Given the description of an element on the screen output the (x, y) to click on. 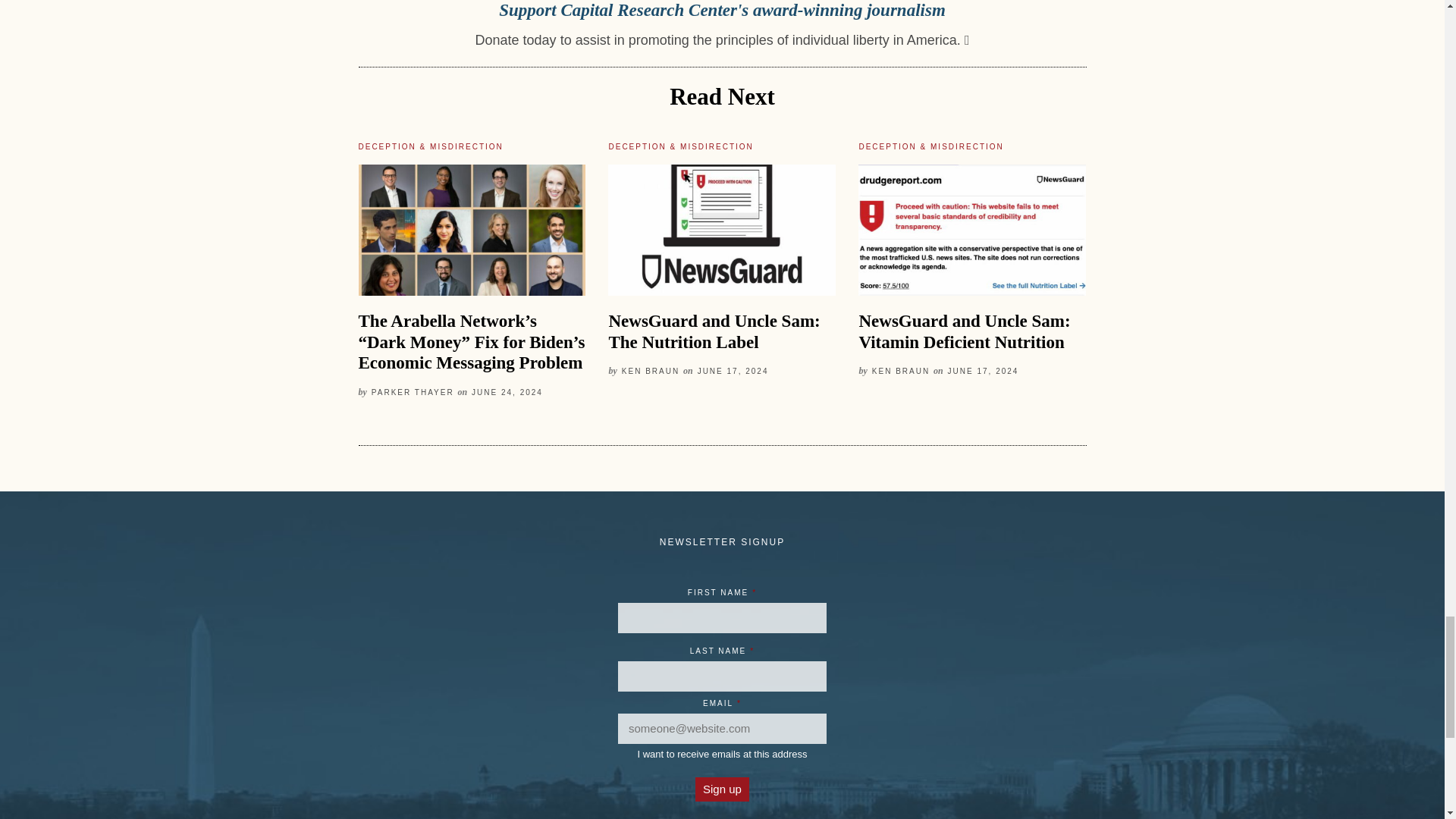
Sign up (722, 789)
